Given the description of an element on the screen output the (x, y) to click on. 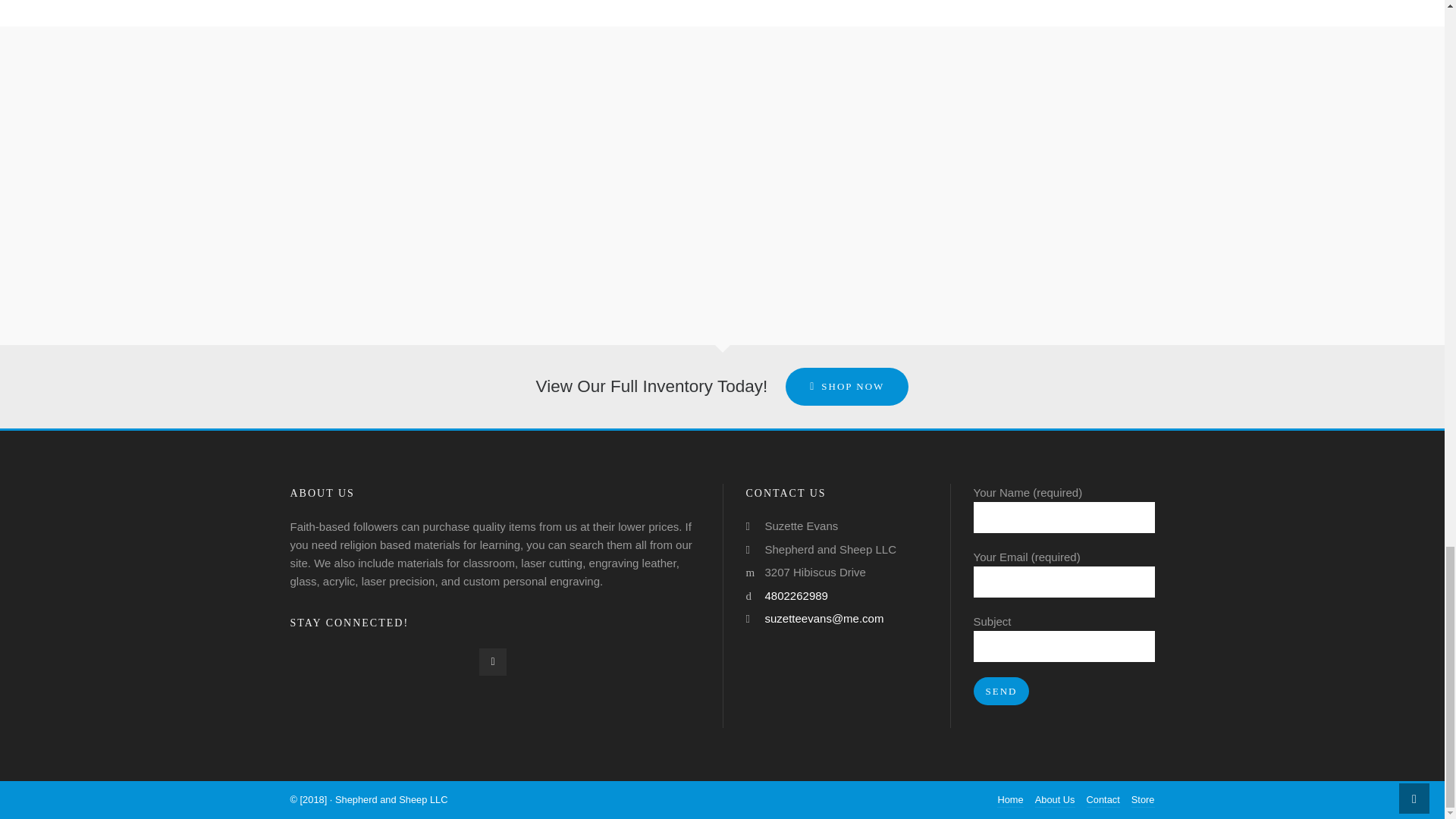
4802262989 (795, 594)
SHOP NOW (847, 386)
About Us (1055, 800)
Send (1001, 691)
Send (1001, 691)
Home (1010, 800)
Store (1142, 800)
Contact (1102, 800)
